Given the description of an element on the screen output the (x, y) to click on. 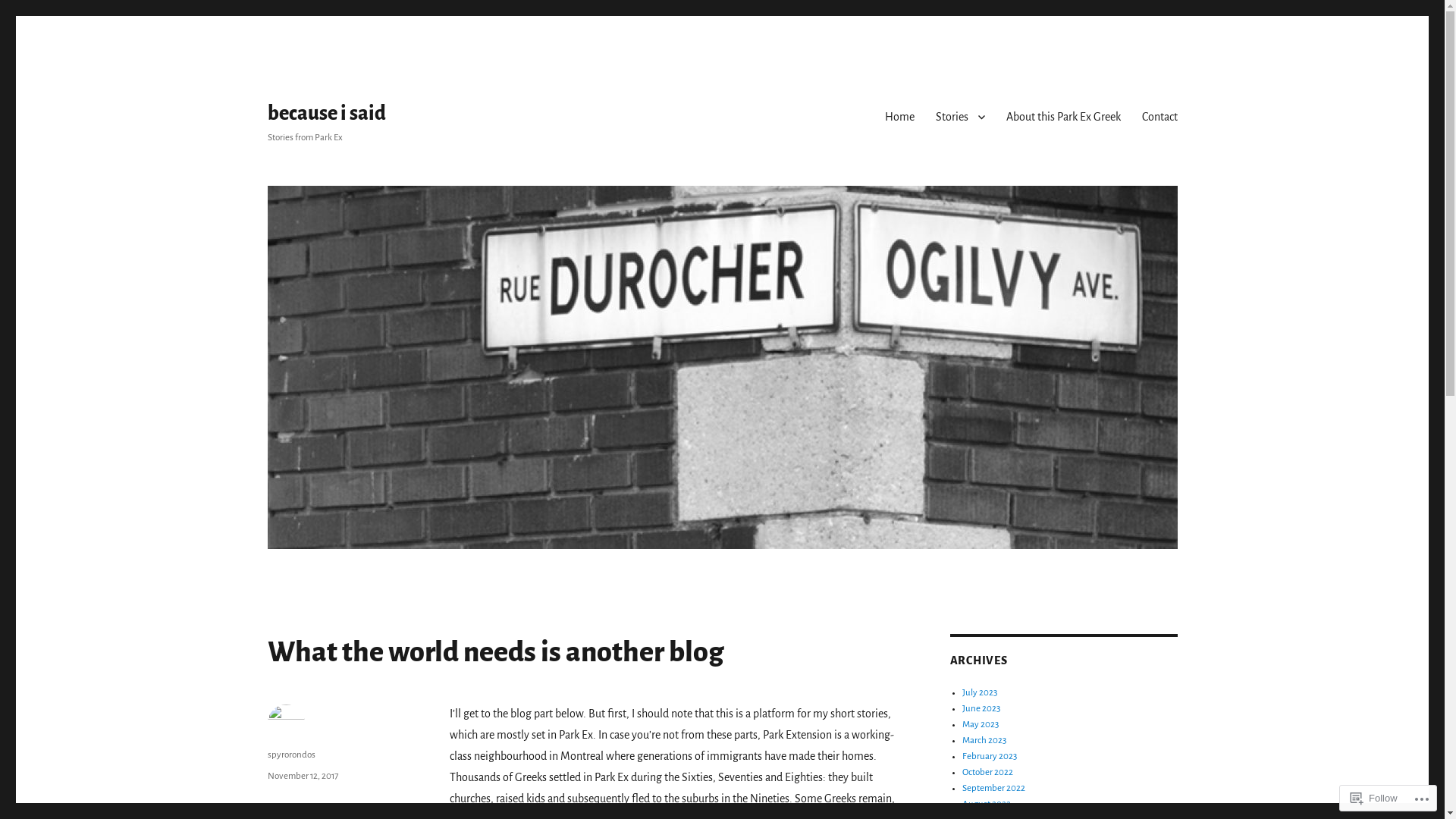
July 2023 Element type: text (979, 692)
February 2023 Element type: text (989, 756)
March 2023 Element type: text (984, 740)
October 2022 Element type: text (987, 772)
August 2022 Element type: text (986, 804)
September 2022 Element type: text (993, 788)
Stories Element type: text (960, 116)
June 2023 Element type: text (981, 708)
Home Element type: text (898, 116)
spyrorondos Element type: text (290, 754)
because i said Element type: text (325, 113)
November 12, 2017 Element type: text (301, 776)
Contact Element type: text (1159, 116)
May 2023 Element type: text (980, 724)
About this Park Ex Greek Element type: text (1062, 116)
Follow Element type: text (1373, 797)
